Given the description of an element on the screen output the (x, y) to click on. 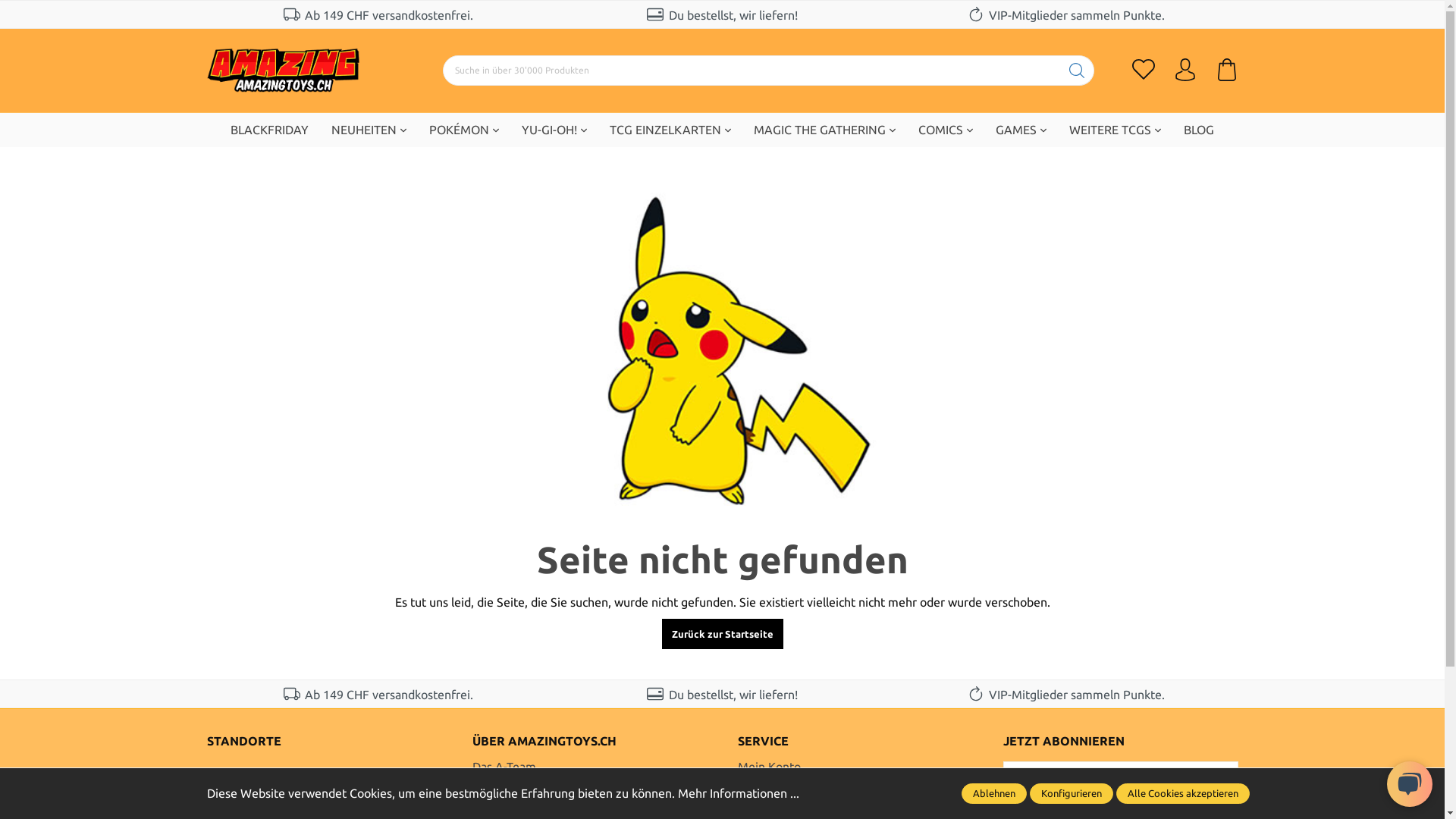
GAMES Element type: text (1020, 129)
BLACKFRIDAY Element type: text (269, 129)
BLOG Element type: text (1198, 129)
Impressum Element type: text (501, 794)
Das A-Team Element type: text (503, 767)
VIP-Mitgliedschaft Element type: text (787, 794)
Mehr Informationen ... Element type: text (738, 793)
MAGIC THE GATHERING Element type: text (824, 129)
COMICS Element type: text (945, 129)
Warenkorb Element type: hover (1217, 69)
WEITERE TCGS Element type: text (1114, 129)
Merkzettel Element type: hover (1152, 69)
Ablehnen Element type: text (993, 793)
Zur Startseite wechseln Element type: hover (282, 69)
Konfigurieren Element type: text (1071, 793)
NEUHEITEN Element type: text (368, 129)
TCG EINZELKARTEN Element type: text (670, 129)
Alle Cookies akzeptieren Element type: text (1182, 793)
Mein Konto Element type: hover (1184, 69)
Mein Konto Element type: text (768, 767)
YU-GI-OH! Element type: text (554, 129)
